Given the description of an element on the screen output the (x, y) to click on. 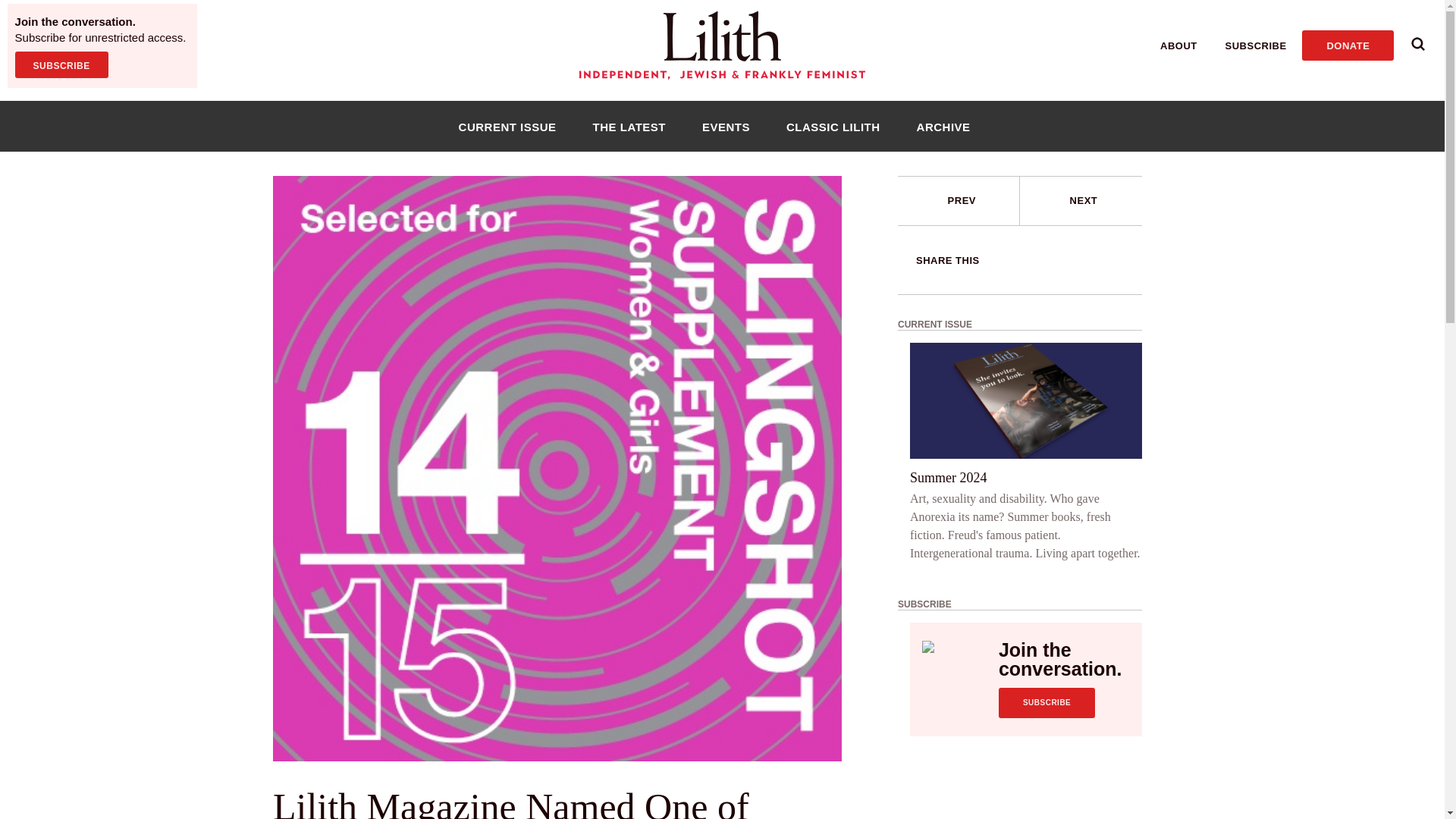
SUBSCRIBE (60, 64)
CLASSIC LILITH (833, 126)
DONATE (1347, 45)
SUBSCRIBE (1046, 702)
ABOUT (1178, 45)
ARCHIVE (943, 126)
THE LATEST (628, 126)
PREV (961, 200)
SUBSCRIBE (1255, 45)
PREV (959, 200)
